Given the description of an element on the screen output the (x, y) to click on. 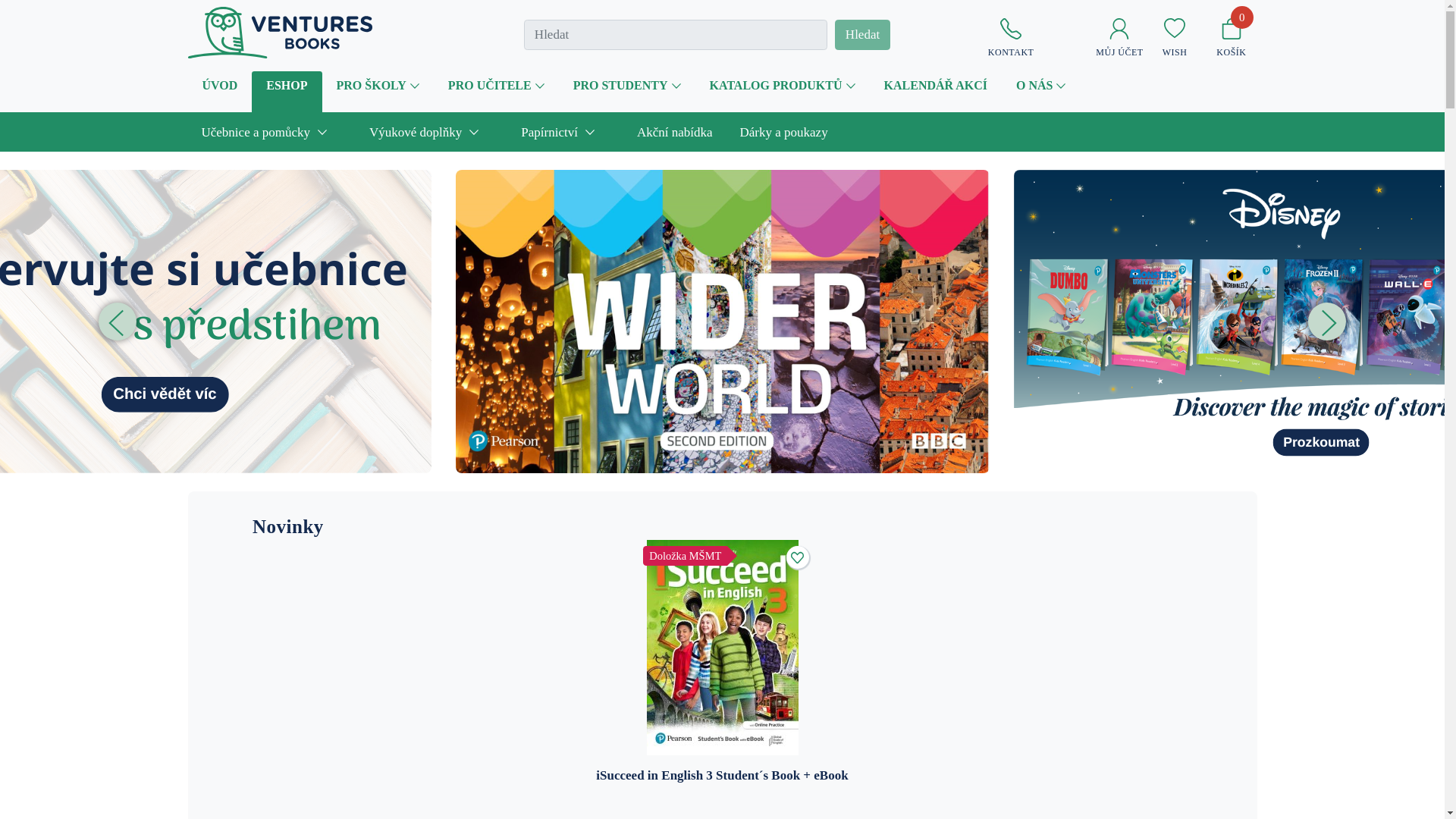
Hledat (861, 34)
PRO STUDENTY (627, 85)
KONTAKT (1010, 38)
Kontakt (1010, 38)
VenturesBooks CZ (279, 31)
ESHOP (286, 92)
